Given the description of an element on the screen output the (x, y) to click on. 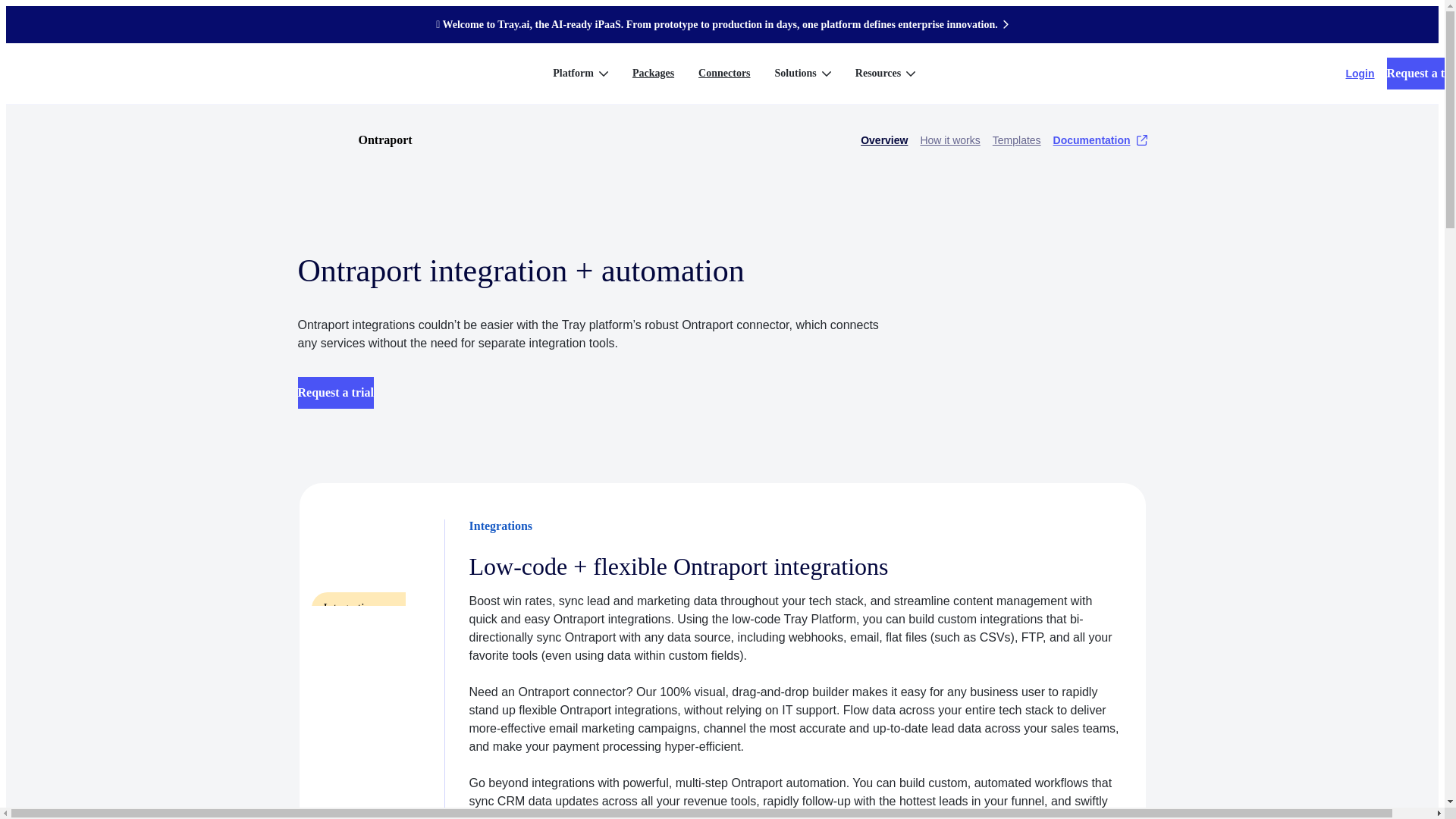
How it works (949, 139)
Integrations (357, 608)
Request a trial (334, 392)
Request a trial (1421, 73)
Login (1359, 73)
Overview (883, 139)
Templates (1016, 139)
Documentation (1099, 139)
